Given the description of an element on the screen output the (x, y) to click on. 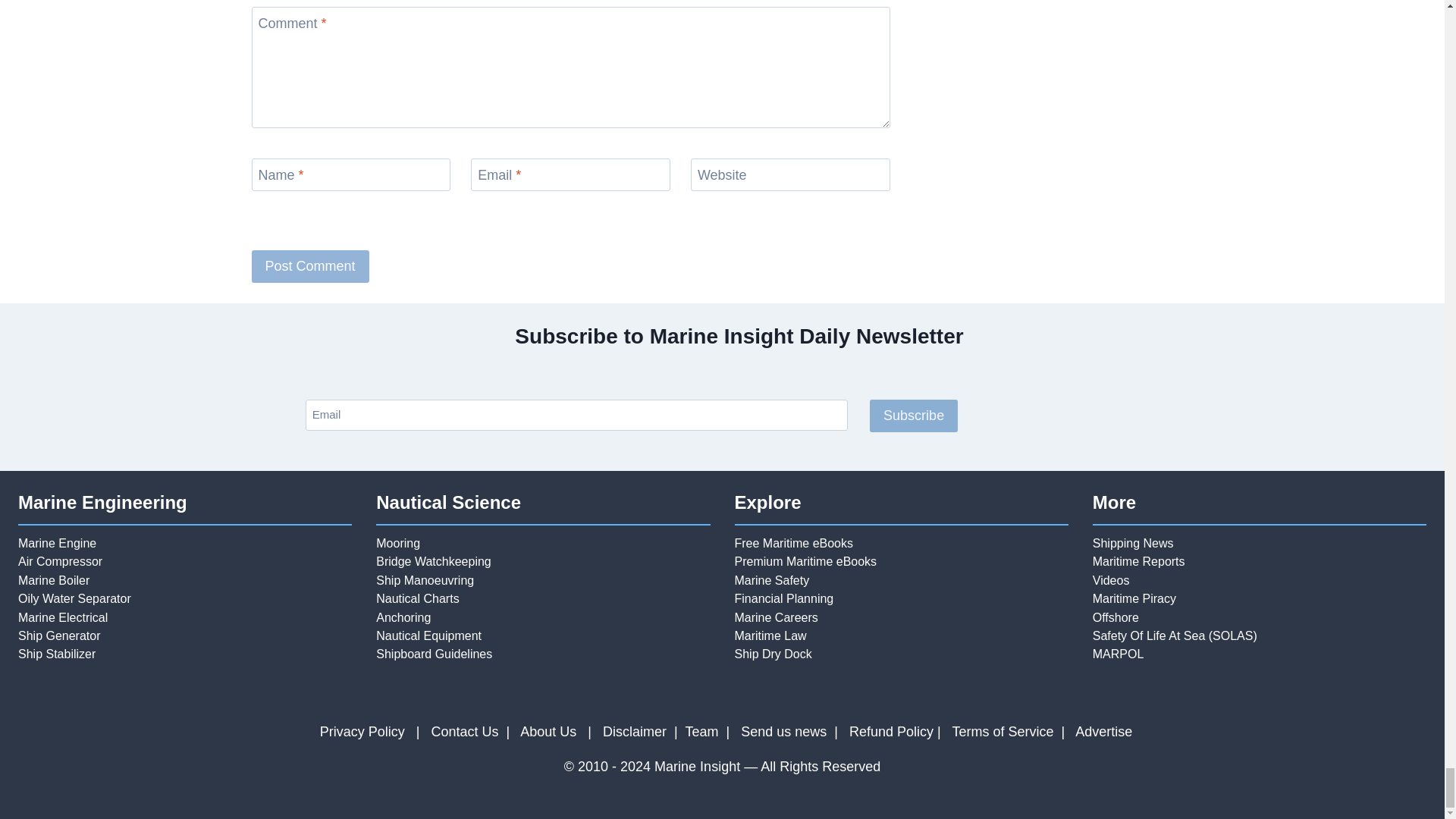
Post Comment (310, 266)
Subscribe (913, 415)
